Given the description of an element on the screen output the (x, y) to click on. 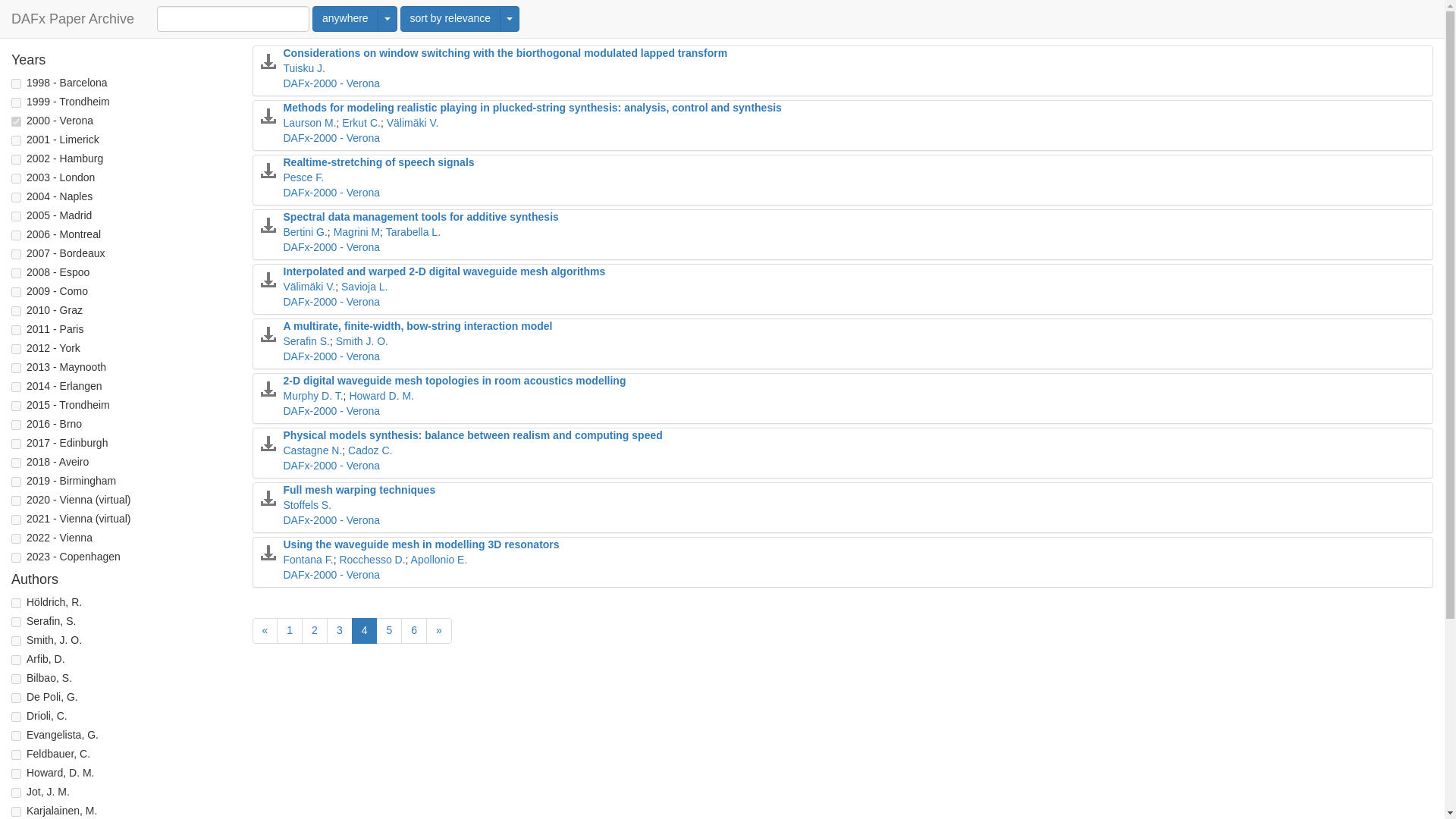
anywhere (345, 18)
Erkut C. (361, 122)
Pesce F. (303, 177)
Download (268, 170)
sort by relevance (450, 18)
2004 (16, 197)
2006 (16, 235)
2014 (16, 387)
1999 (16, 102)
2015 (16, 406)
Realtime-stretching of speech signals (378, 162)
Download (268, 115)
Download (268, 279)
2016 (16, 424)
Spectral data management tools for additive synthesis (421, 216)
